Given the description of an element on the screen output the (x, y) to click on. 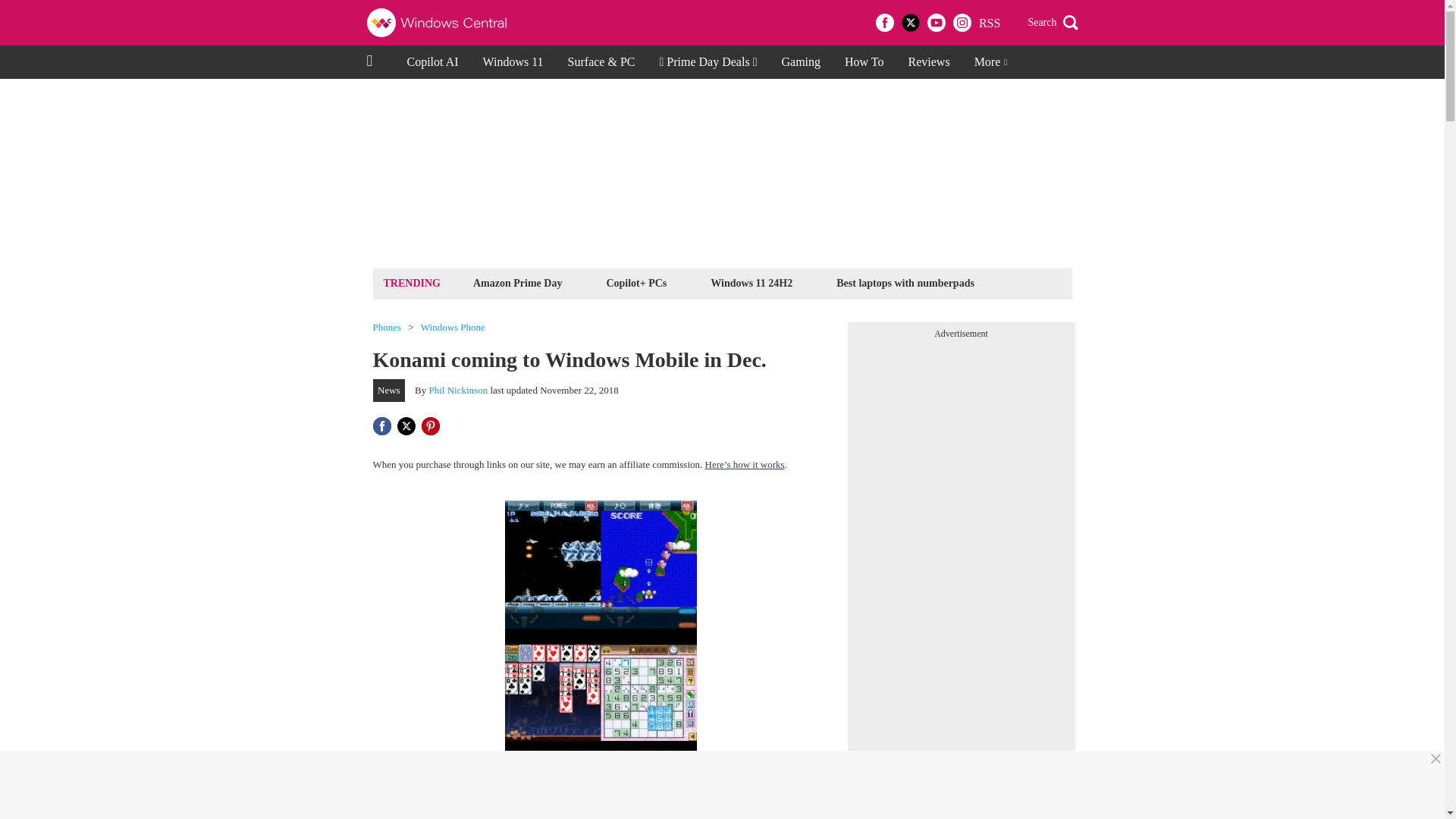
How To (863, 61)
Konami code (547, 795)
News (389, 390)
Windows Phone (452, 327)
Reviews (929, 61)
Phil Nickinson (458, 389)
Best laptops with numberpads (905, 282)
Windows 11 (513, 61)
Phones (386, 327)
Amazon Prime Day (517, 282)
Gaming (800, 61)
RSS (989, 22)
